Given the description of an element on the screen output the (x, y) to click on. 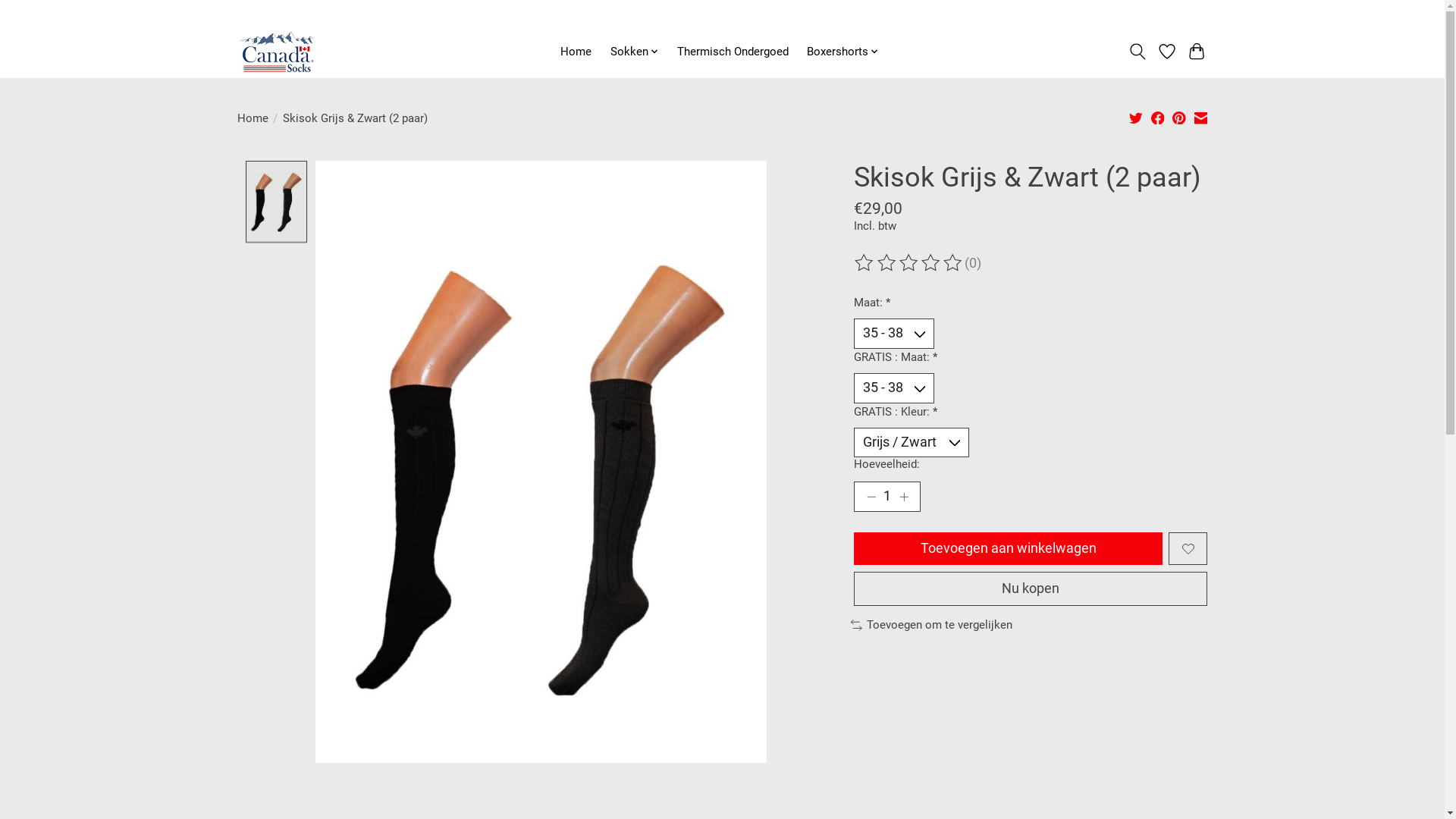
Nu kopen Element type: text (1030, 588)
Share on Pinterest Element type: text (1179, 119)
Thermisch Ondergoed Element type: text (732, 51)
Share on Facebook Element type: text (1157, 119)
Home Element type: text (251, 117)
Toevoegen aan winkelwagen Element type: text (1007, 548)
CanadaSocks Element type: hover (278, 51)
Share by Email Element type: text (1201, 119)
Boxershorts Element type: text (842, 51)
Share on Twitter Element type: text (1135, 119)
Toevoegen om te vergelijken Element type: text (931, 624)
Aanmelden / Inloggen Element type: text (1157, 12)
Home Element type: text (575, 51)
Sokken Element type: text (634, 51)
